Given the description of an element on the screen output the (x, y) to click on. 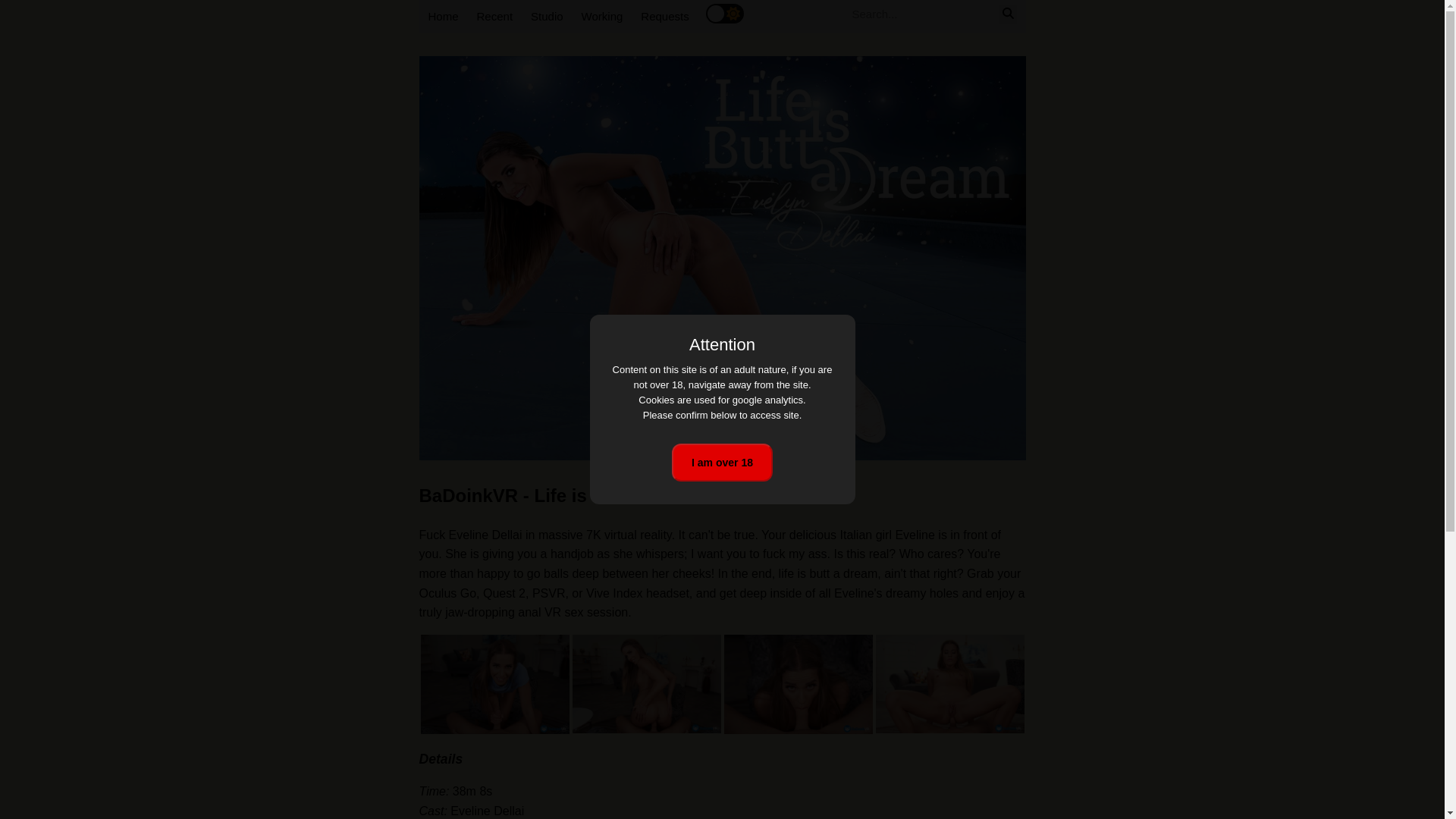
Requests (664, 16)
Working (601, 16)
Home (443, 16)
I am over 18 (722, 462)
Recent (494, 16)
Studio (546, 16)
